Given the description of an element on the screen output the (x, y) to click on. 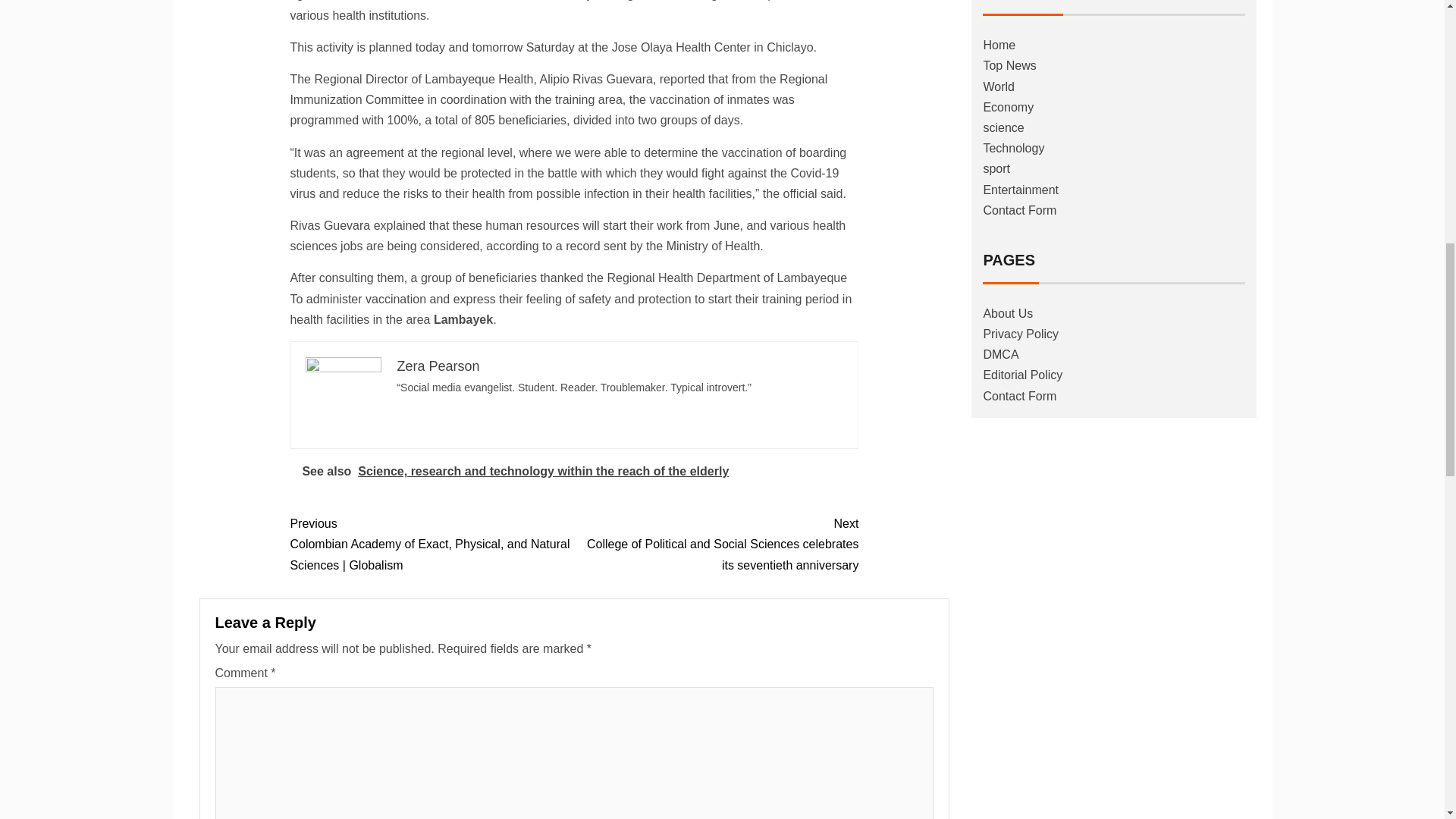
Zera Pearson (437, 365)
